Given the description of an element on the screen output the (x, y) to click on. 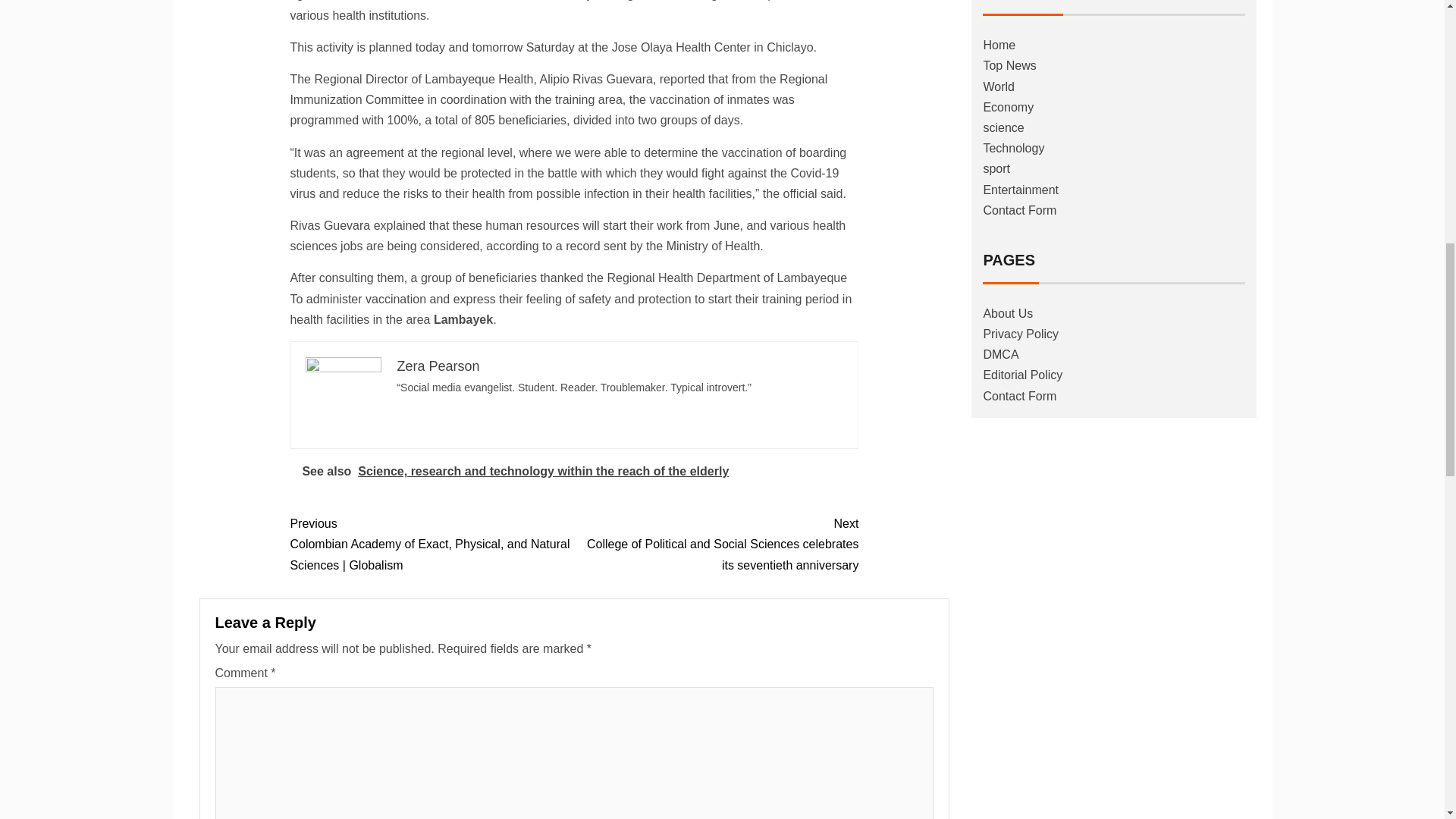
Zera Pearson (437, 365)
